Given the description of an element on the screen output the (x, y) to click on. 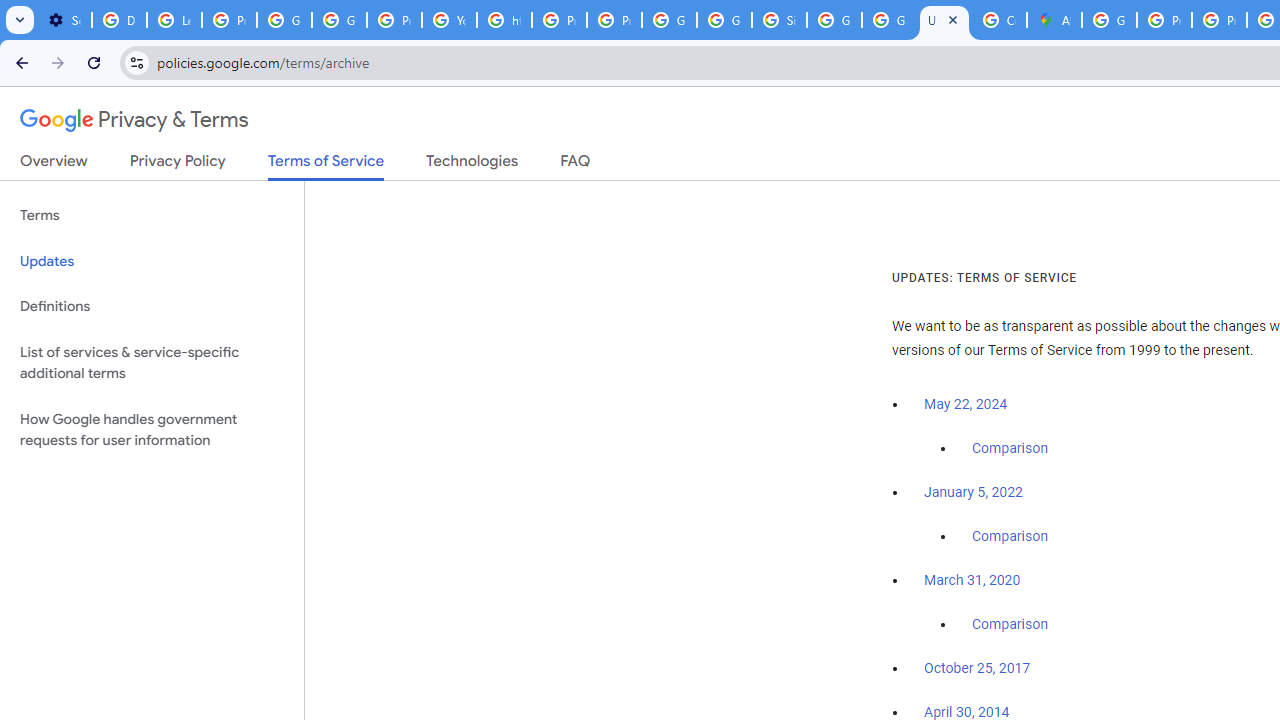
March 31, 2020 (972, 580)
How Google handles government requests for user information (152, 429)
Technologies (472, 165)
Google Account Help (339, 20)
Privacy Help Center - Policies Help (559, 20)
Google Account Help (284, 20)
October 25, 2017 (977, 669)
Privacy & Terms (134, 120)
Settings - On startup (64, 20)
January 5, 2022 (973, 492)
